Given the description of an element on the screen output the (x, y) to click on. 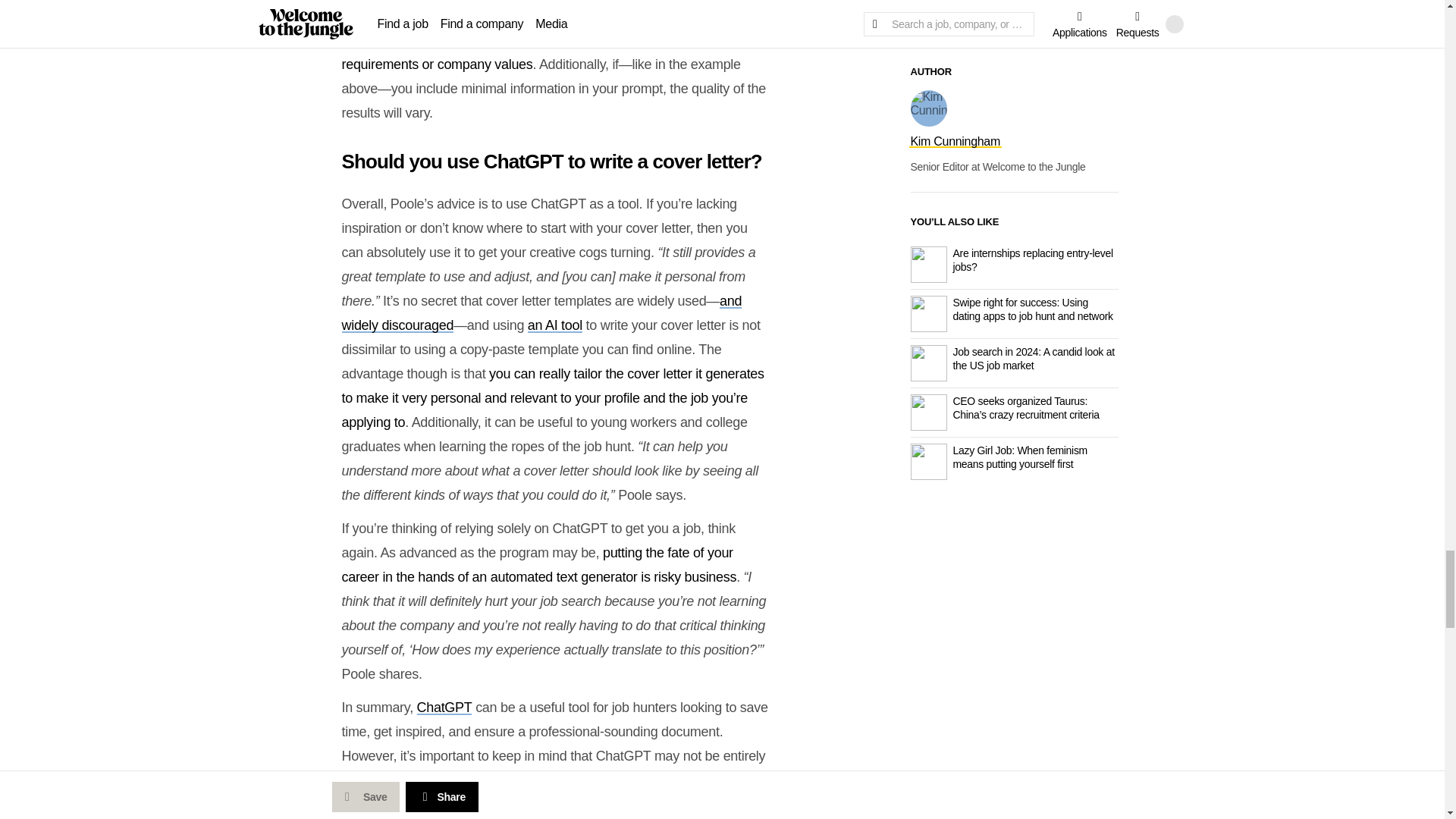
an AI tool (554, 324)
ChatGPT (443, 707)
and widely discouraged (540, 312)
